Given the description of an element on the screen output the (x, y) to click on. 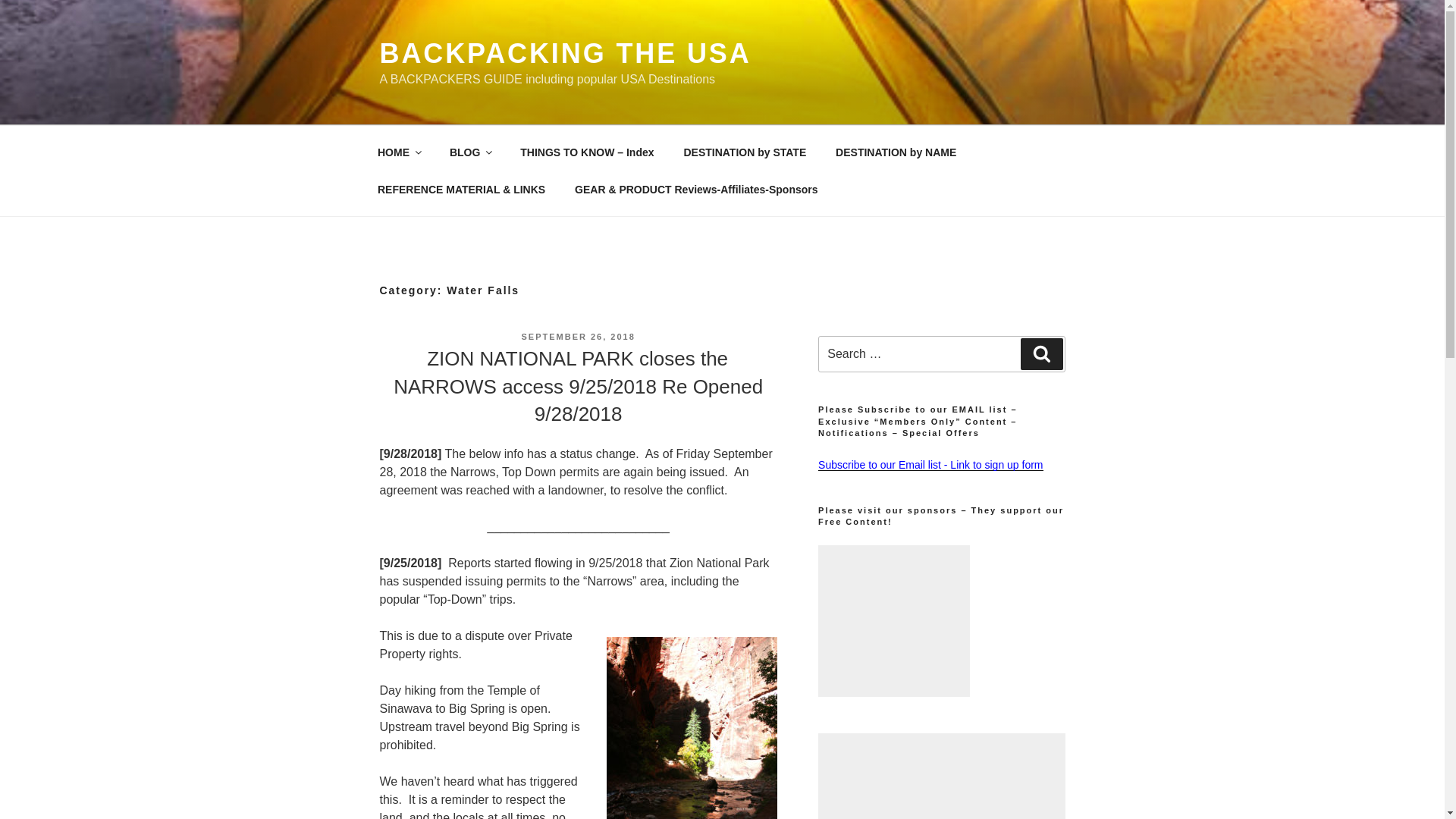
Advertisement (941, 776)
HOME (398, 151)
DESTINATION by STATE (744, 151)
Search (1041, 354)
Subscribe to our Email list - Link to sign up form (930, 464)
BACKPACKING THE USA (564, 52)
SEPTEMBER 26, 2018 (577, 336)
BLOG (469, 151)
Advertisement (893, 620)
DESTINATION by NAME (895, 151)
